Given the description of an element on the screen output the (x, y) to click on. 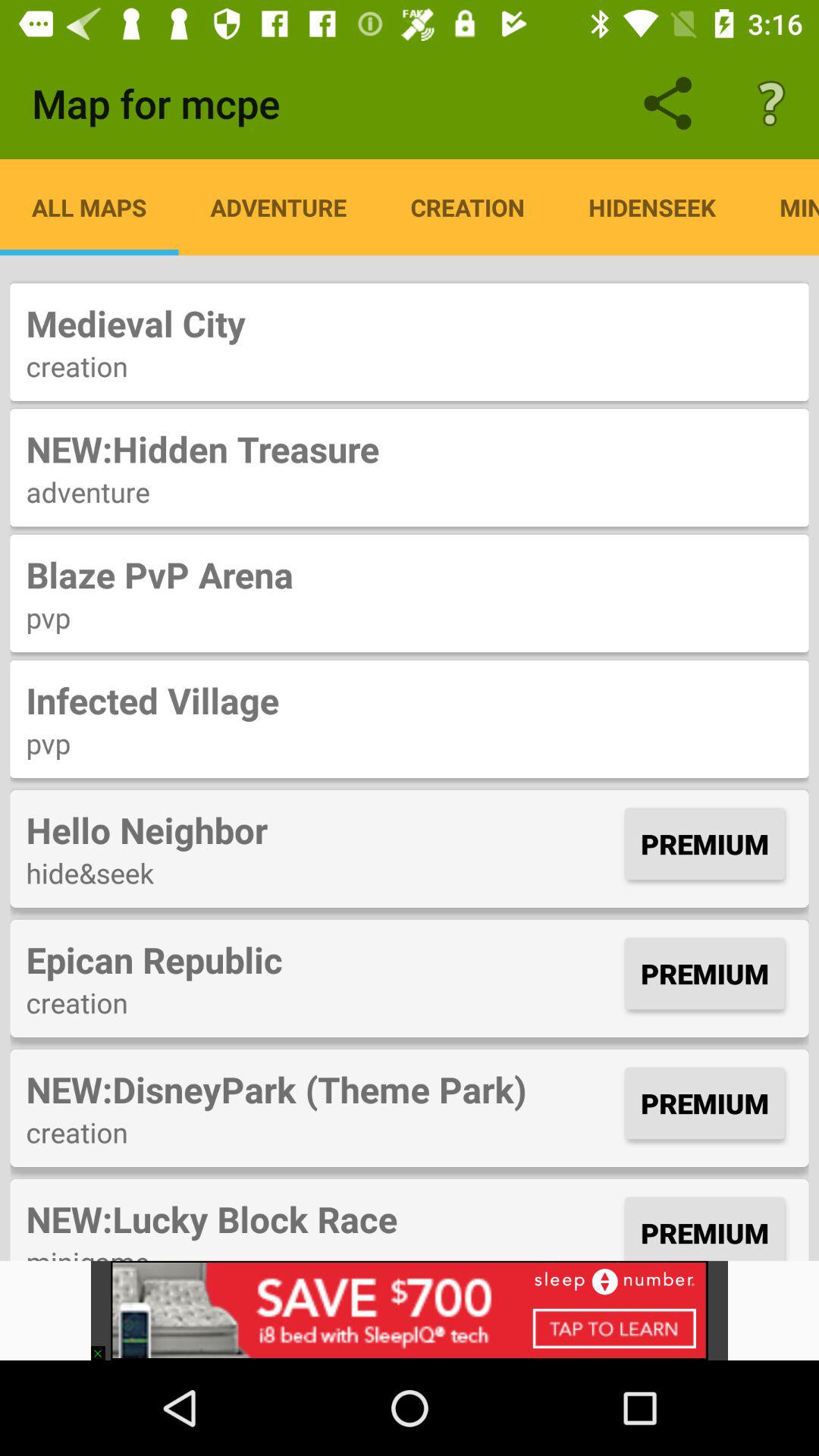
launch app next to the adventure (89, 207)
